Given the description of an element on the screen output the (x, y) to click on. 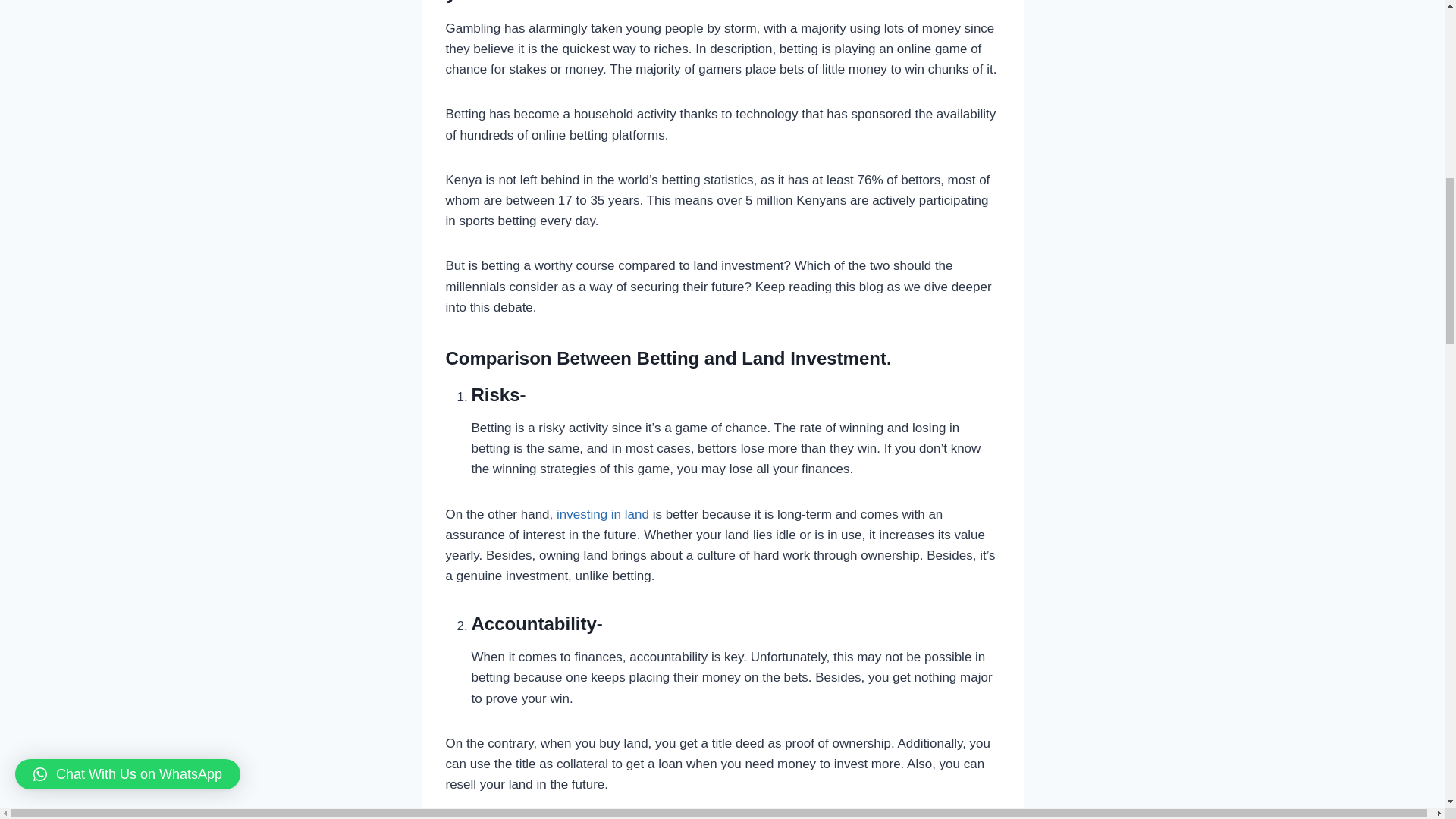
investing in land (602, 513)
